Given the description of an element on the screen output the (x, y) to click on. 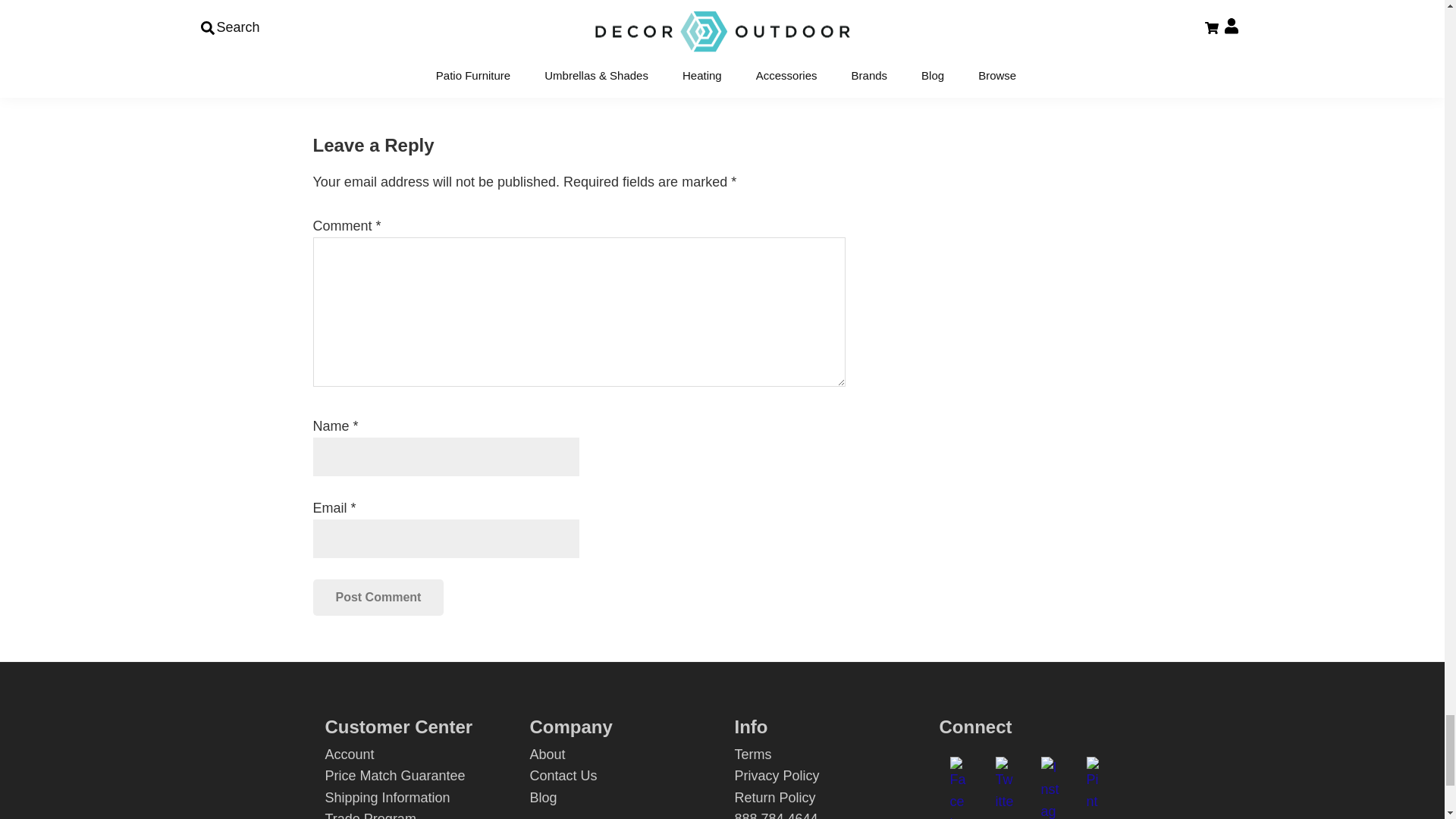
Post Comment (378, 597)
